Given the description of an element on the screen output the (x, y) to click on. 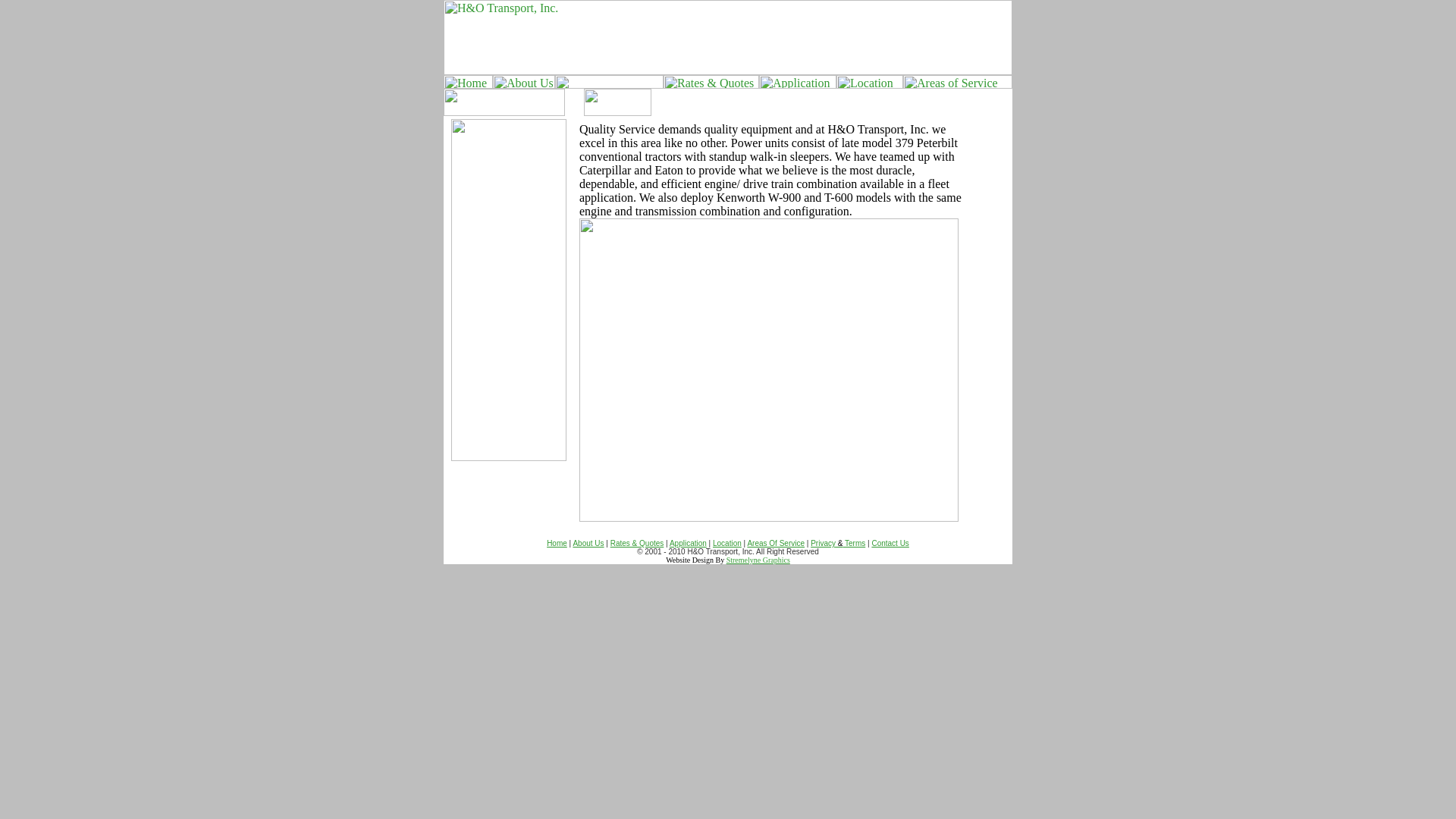
Areas Of Service (775, 542)
Location (727, 542)
Application (687, 542)
Home (557, 542)
Stremelyne Graphics (758, 560)
Contact Us (889, 542)
About Us (588, 542)
